Given the description of an element on the screen output the (x, y) to click on. 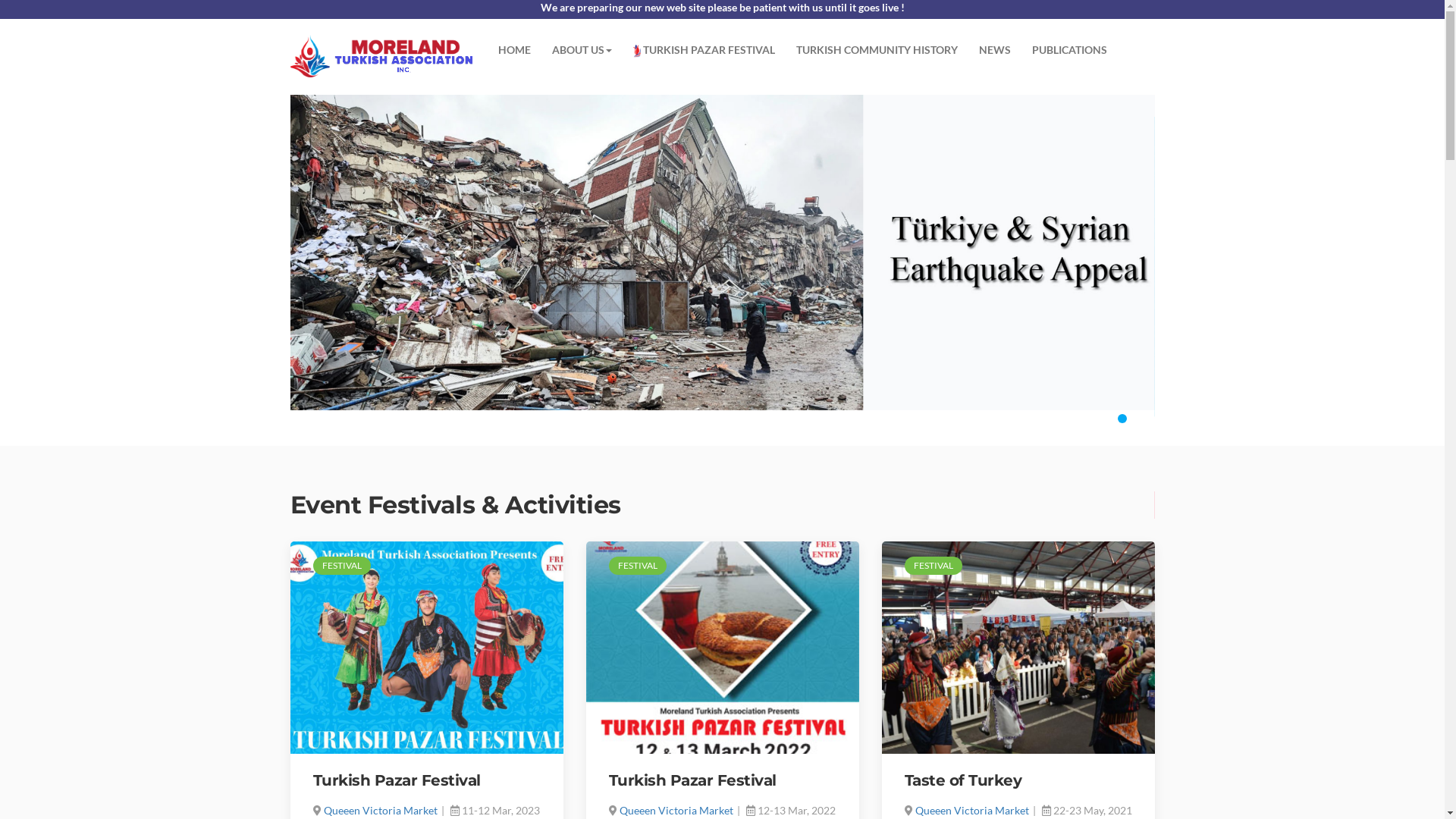
Queeen Victoria Market Element type: text (379, 809)
Queeen Victoria Market Element type: text (675, 809)
Queeen Victoria Market Element type: text (971, 809)
PUBLICATIONS Element type: text (1069, 49)
NEWS Element type: text (994, 49)
HOME Element type: text (513, 49)
Taste of Turkey Element type: text (962, 780)
TURKISH COMMUNITY HISTORY Element type: text (876, 49)
Turkish Pazar Festival Element type: text (691, 780)
Turkish Pazar Festival Element type: text (396, 780)
TURKISH PAZAR FESTIVAL Element type: text (703, 49)
ABOUT US Element type: text (581, 49)
